Given the description of an element on the screen output the (x, y) to click on. 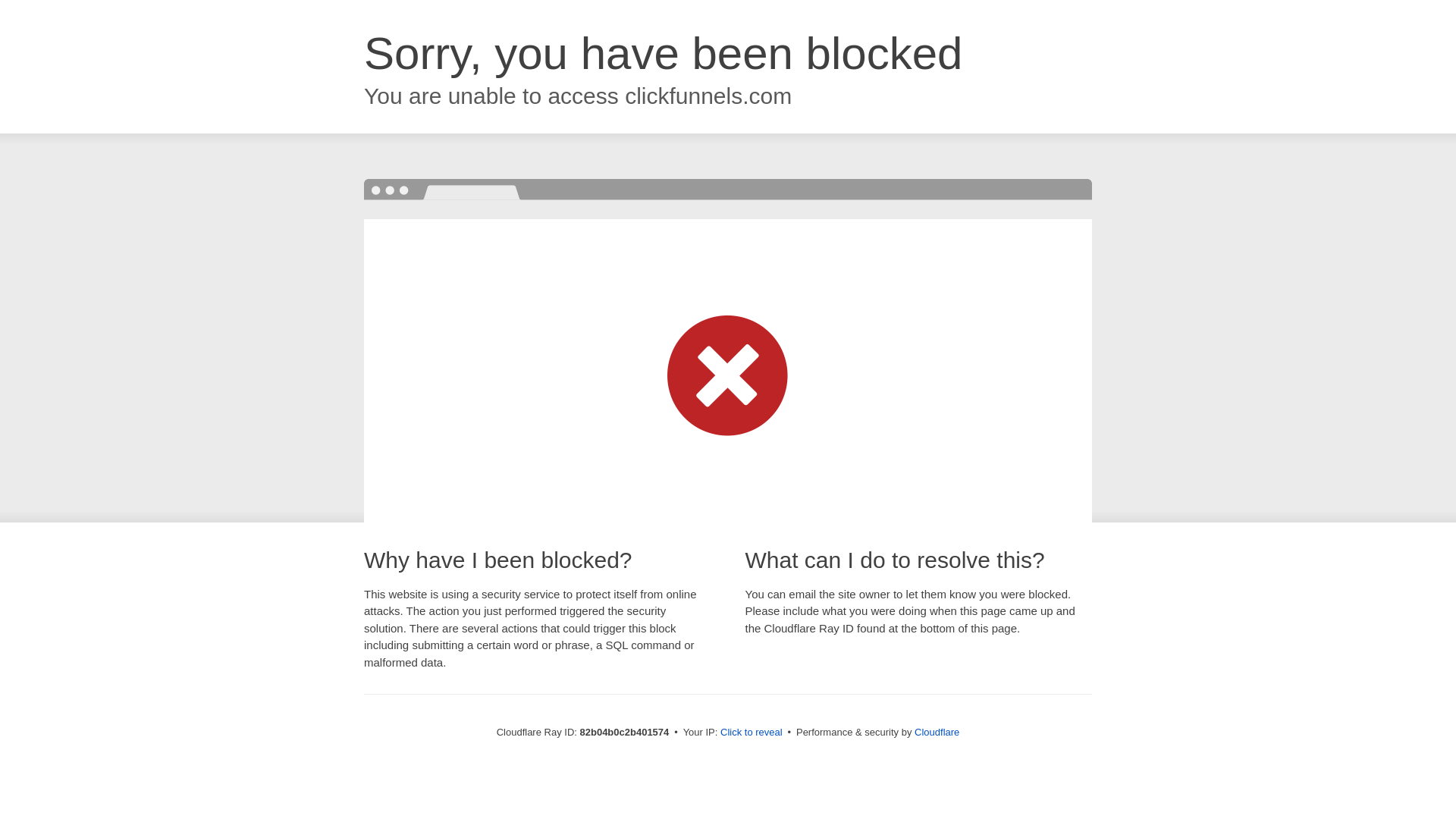
Cloudflare Element type: text (936, 731)
Click to reveal Element type: text (751, 732)
